Given the description of an element on the screen output the (x, y) to click on. 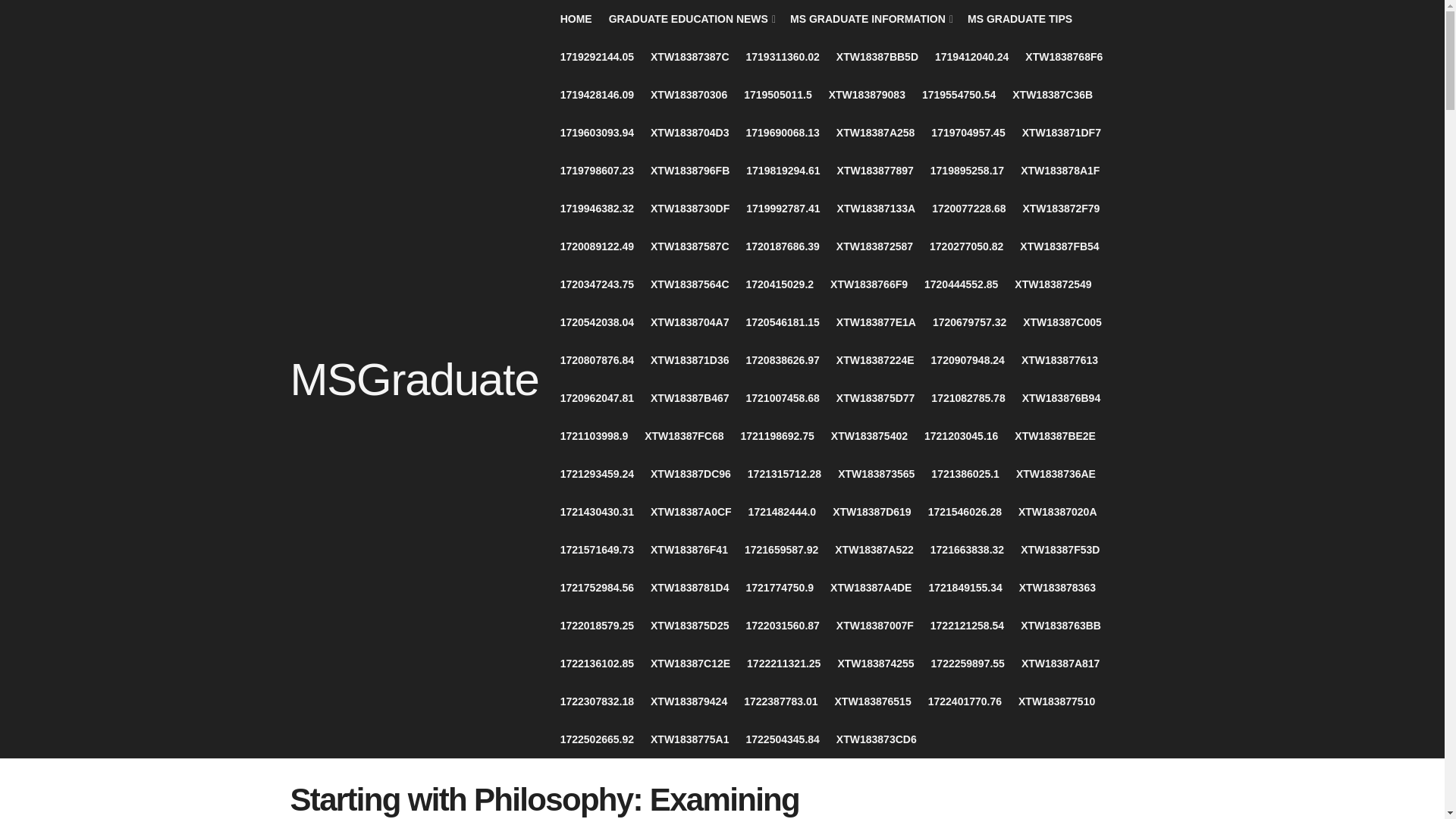
XTW183879083 (866, 94)
XTW18387387C (689, 56)
1719819294.61 (782, 170)
1719412040.24 (971, 56)
1719603093.94 (596, 132)
1719798607.23 (596, 170)
XTW18387133A (876, 208)
XTW1838730DF (689, 208)
1719554750.54 (958, 94)
1719992787.41 (782, 208)
XTW18387A258 (875, 132)
XTW1838704D3 (689, 132)
1719704957.45 (967, 132)
1719895258.17 (967, 170)
XTW18387BB5D (876, 56)
